Given the description of an element on the screen output the (x, y) to click on. 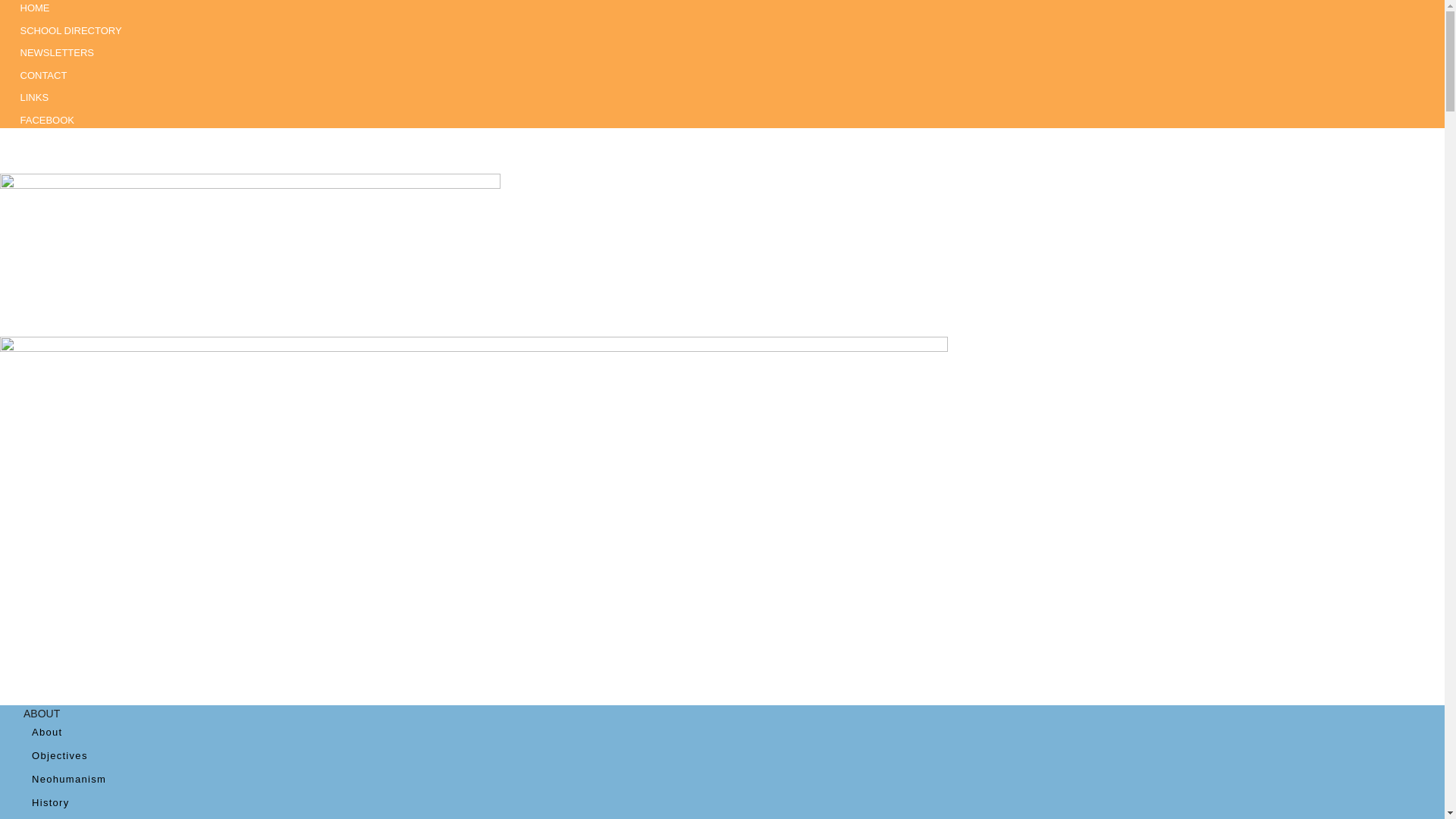
About (47, 731)
Objectives (59, 755)
CONTACT (43, 75)
FACEBOOK (47, 120)
History (50, 802)
CURRICULUM (58, 814)
LINKS (34, 97)
NEWSLETTERS (57, 52)
Neohumanism (69, 778)
ABOUT (41, 713)
HOME (34, 10)
SCHOOL DIRECTORY (71, 30)
